Given the description of an element on the screen output the (x, y) to click on. 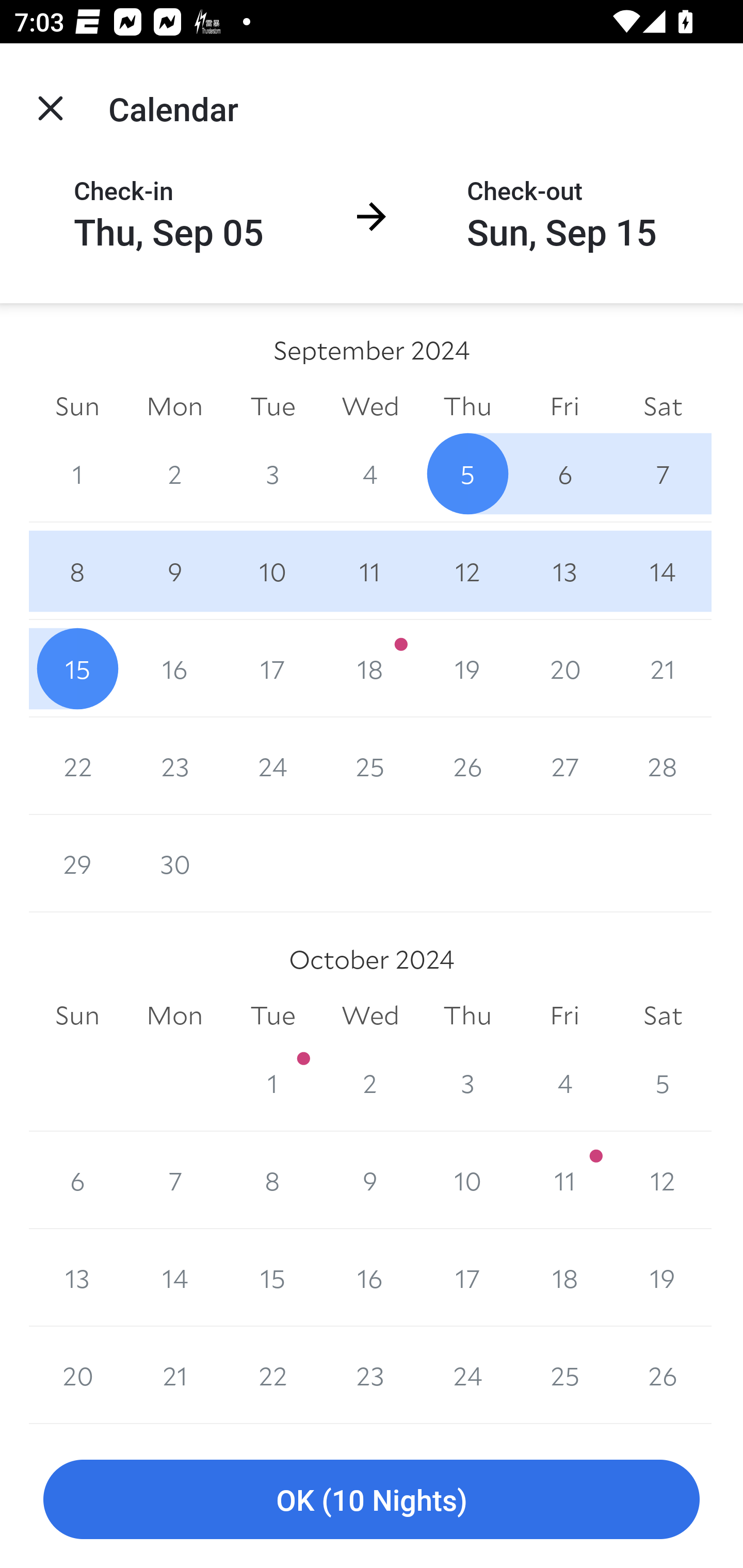
Sun (77, 405)
Mon (174, 405)
Tue (272, 405)
Wed (370, 405)
Thu (467, 405)
Fri (564, 405)
Sat (662, 405)
1 1 September 2024 (77, 473)
2 2 September 2024 (174, 473)
3 3 September 2024 (272, 473)
4 4 September 2024 (370, 473)
5 5 September 2024 (467, 473)
6 6 September 2024 (564, 473)
7 7 September 2024 (662, 473)
8 8 September 2024 (77, 570)
9 9 September 2024 (174, 570)
10 10 September 2024 (272, 570)
11 11 September 2024 (370, 570)
12 12 September 2024 (467, 570)
13 13 September 2024 (564, 570)
14 14 September 2024 (662, 570)
15 15 September 2024 (77, 668)
16 16 September 2024 (174, 668)
17 17 September 2024 (272, 668)
18 18 September 2024 (370, 668)
19 19 September 2024 (467, 668)
20 20 September 2024 (564, 668)
21 21 September 2024 (662, 668)
22 22 September 2024 (77, 766)
23 23 September 2024 (174, 766)
24 24 September 2024 (272, 766)
25 25 September 2024 (370, 766)
26 26 September 2024 (467, 766)
27 27 September 2024 (564, 766)
28 28 September 2024 (662, 766)
29 29 September 2024 (77, 863)
30 30 September 2024 (174, 863)
Sun (77, 1015)
Mon (174, 1015)
Tue (272, 1015)
Wed (370, 1015)
Thu (467, 1015)
Fri (564, 1015)
Sat (662, 1015)
1 1 October 2024 (272, 1083)
2 2 October 2024 (370, 1083)
3 3 October 2024 (467, 1083)
4 4 October 2024 (564, 1083)
5 5 October 2024 (662, 1083)
